Given the description of an element on the screen output the (x, y) to click on. 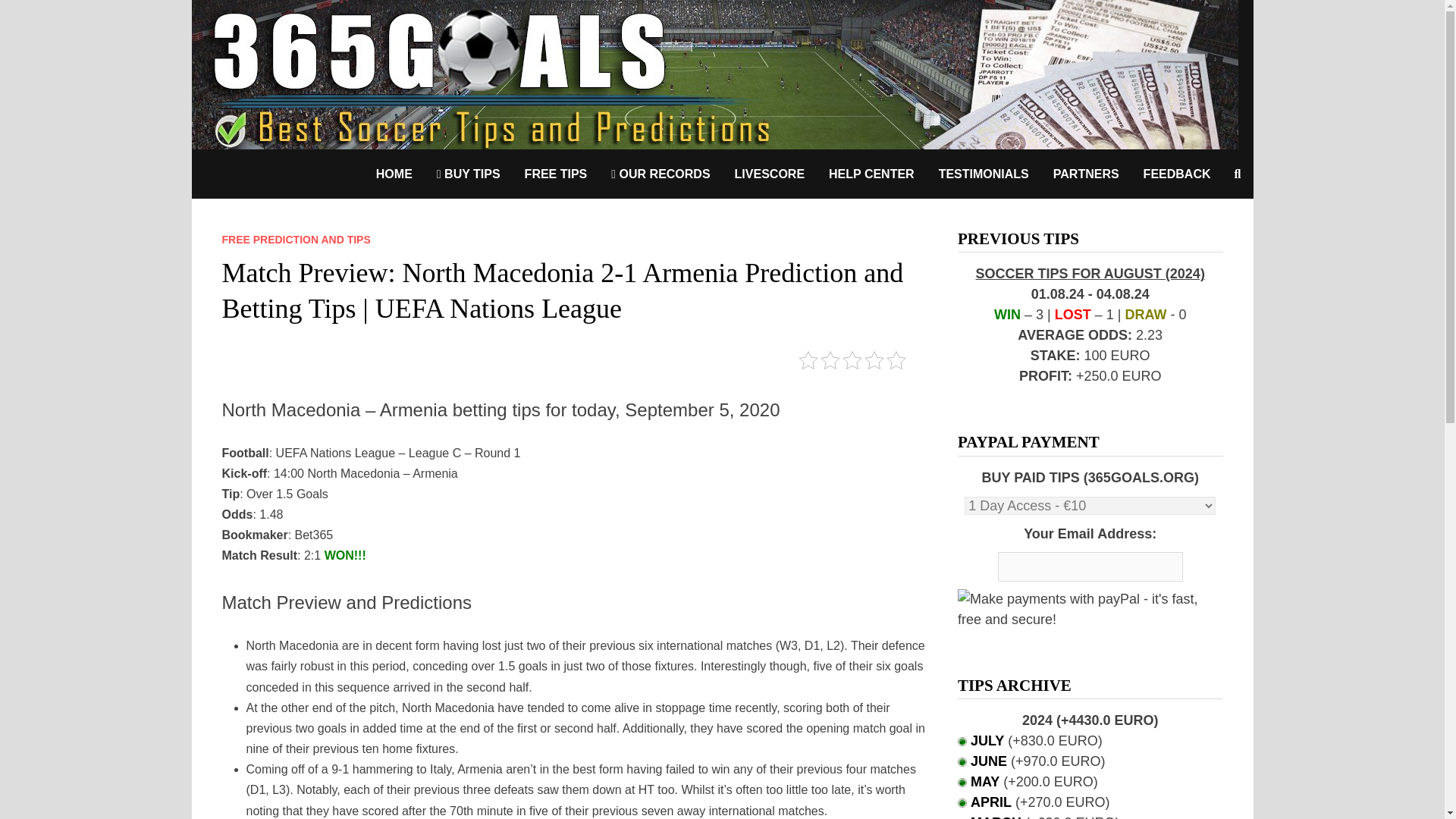
HOME (394, 174)
MARCH (996, 816)
JUNE (989, 761)
MAY (984, 781)
FREE PREDICTION AND TIPS (295, 239)
APRIL (991, 801)
PARTNERS (1086, 174)
LIVESCORE (769, 174)
JULY (987, 740)
FREE TIPS (555, 174)
